Given the description of an element on the screen output the (x, y) to click on. 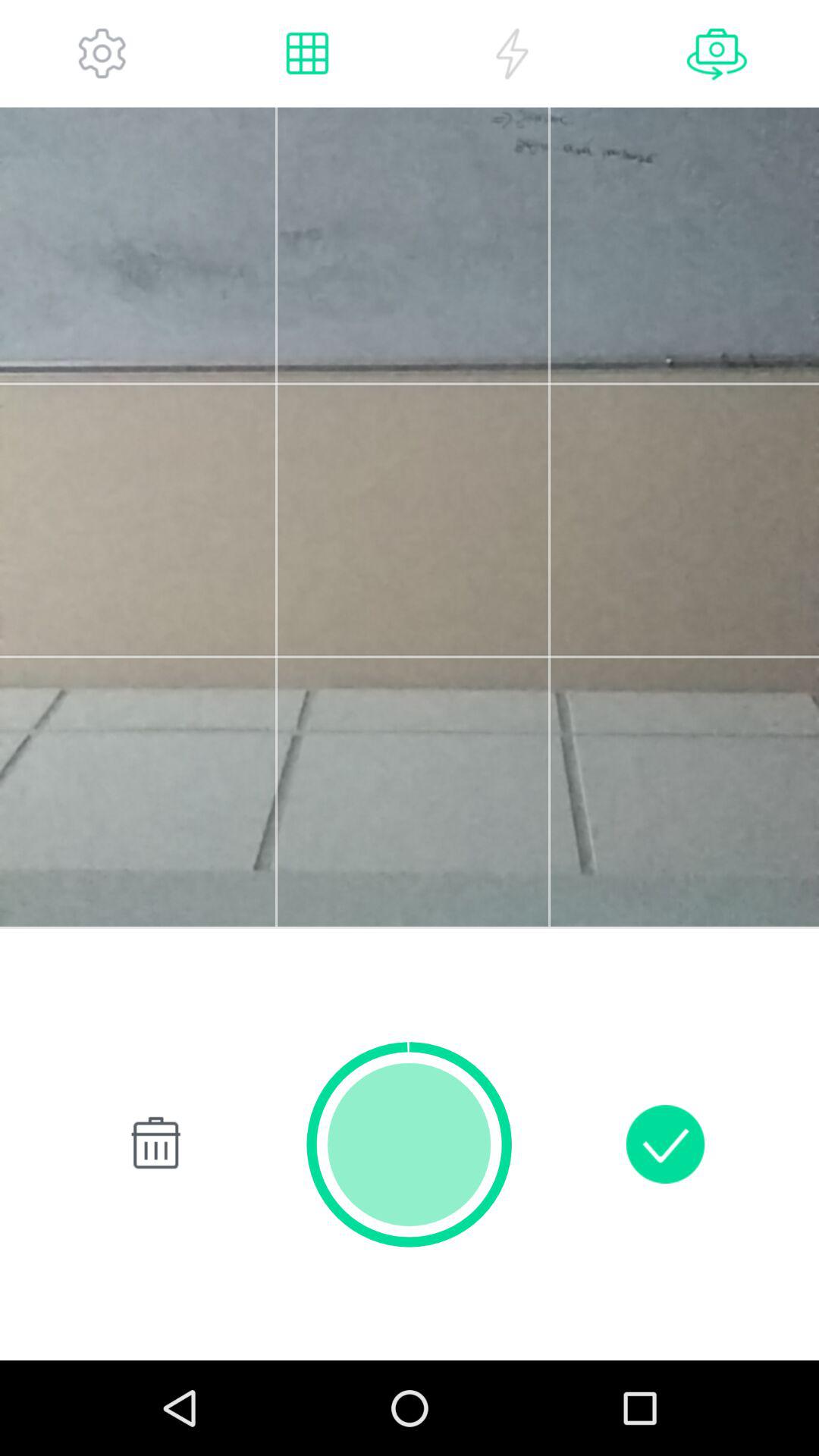
settings (102, 53)
